Given the description of an element on the screen output the (x, y) to click on. 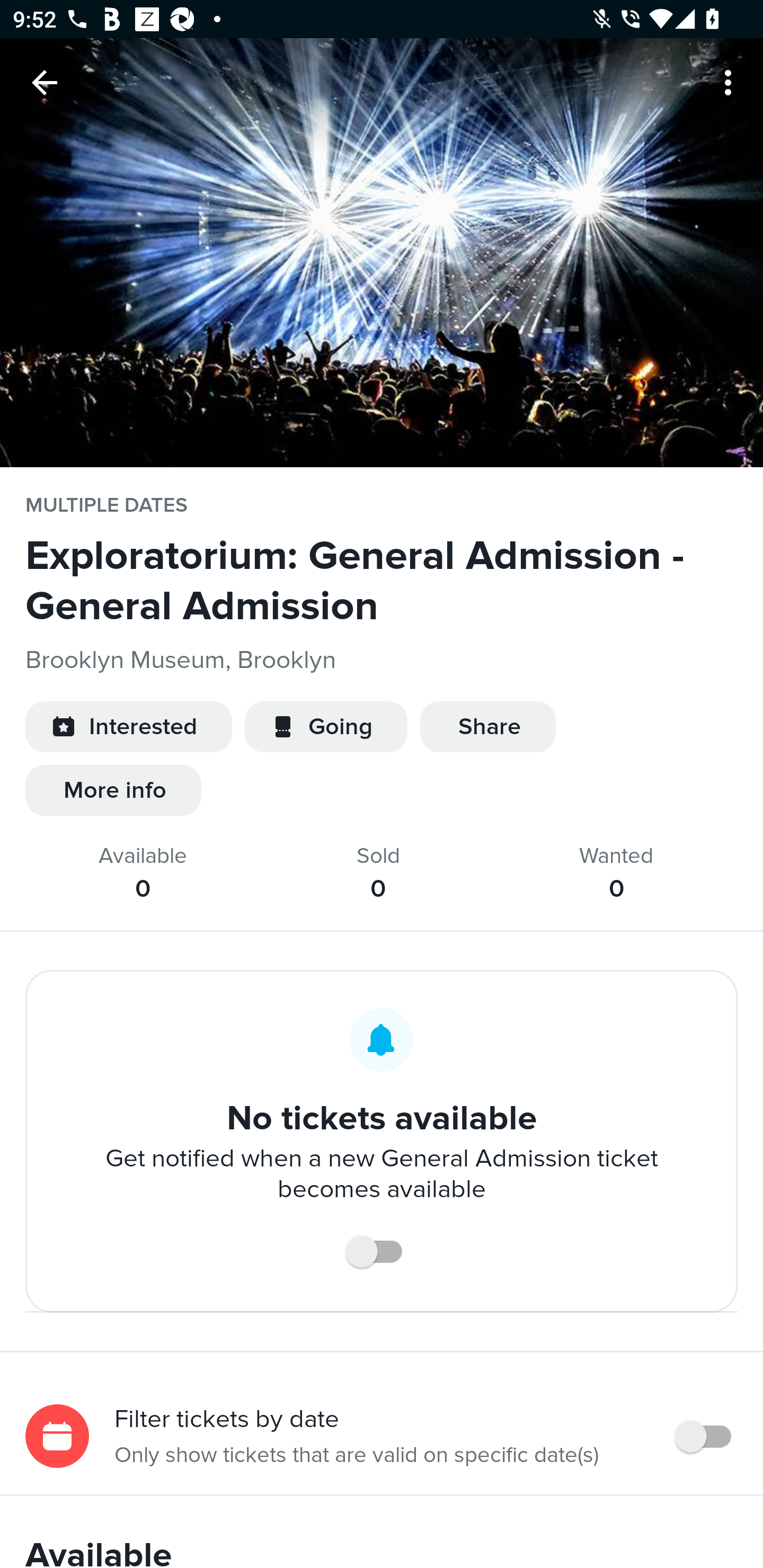
Navigate up (44, 82)
More options (731, 81)
Interested (128, 726)
Going (325, 726)
Share (487, 726)
More info (113, 790)
